Given the description of an element on the screen output the (x, y) to click on. 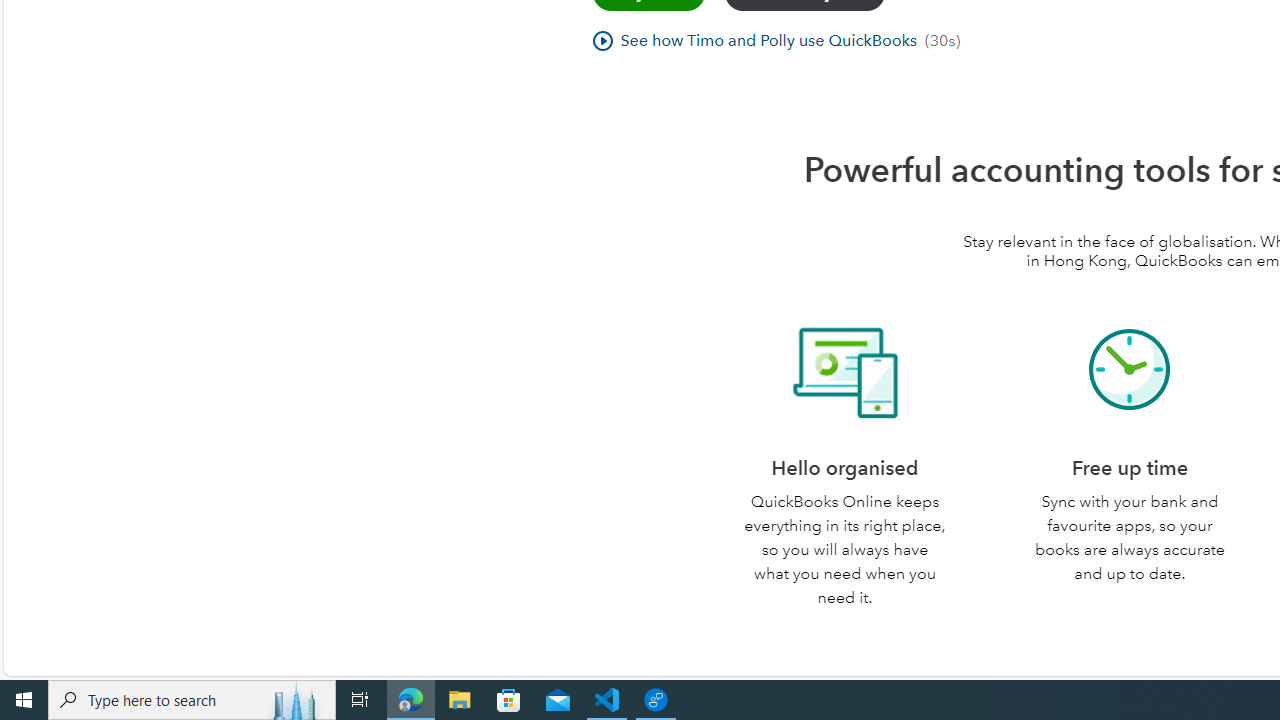
Class: Videolink_play__52e8a474 (602, 40)
Hello organised (844, 369)
See how Timo and Polly use QuickBooks(30s) (776, 42)
Free up time (1130, 369)
